Given the description of an element on the screen output the (x, y) to click on. 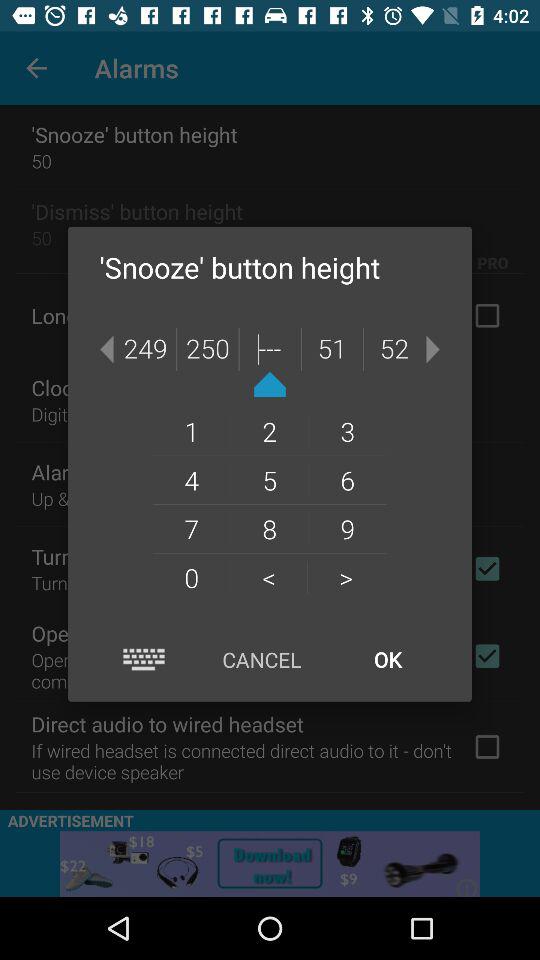
tap the icon next to the 7 item (268, 577)
